Given the description of an element on the screen output the (x, y) to click on. 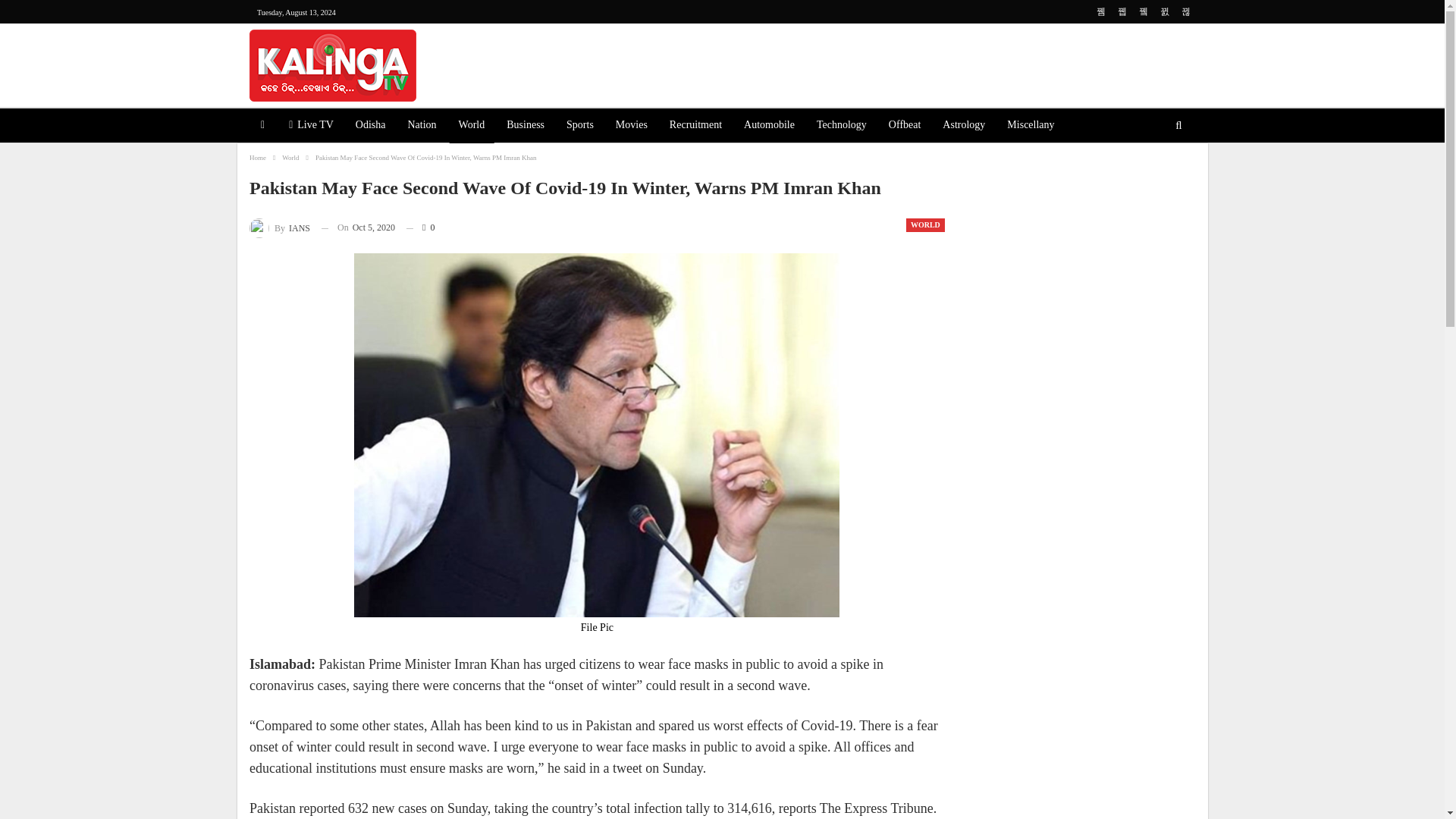
Sports (579, 126)
0 (419, 227)
By IANS (279, 227)
Live TV (310, 126)
World (472, 126)
WORLD (924, 224)
Automobile (769, 126)
Technology (842, 126)
Miscellany (1029, 126)
Nation (421, 126)
